Given the description of an element on the screen output the (x, y) to click on. 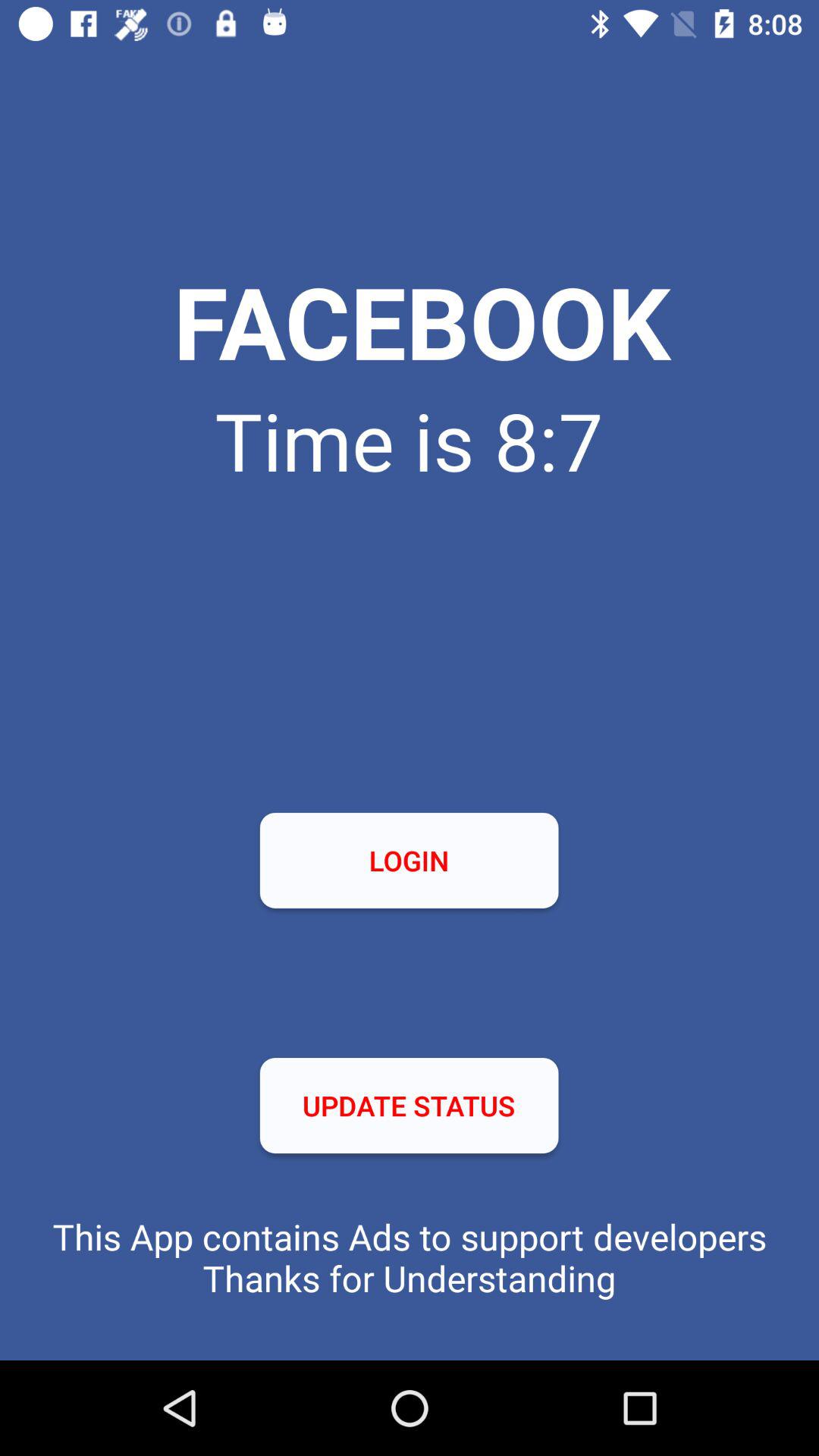
press the icon at the center (408, 860)
